Given the description of an element on the screen output the (x, y) to click on. 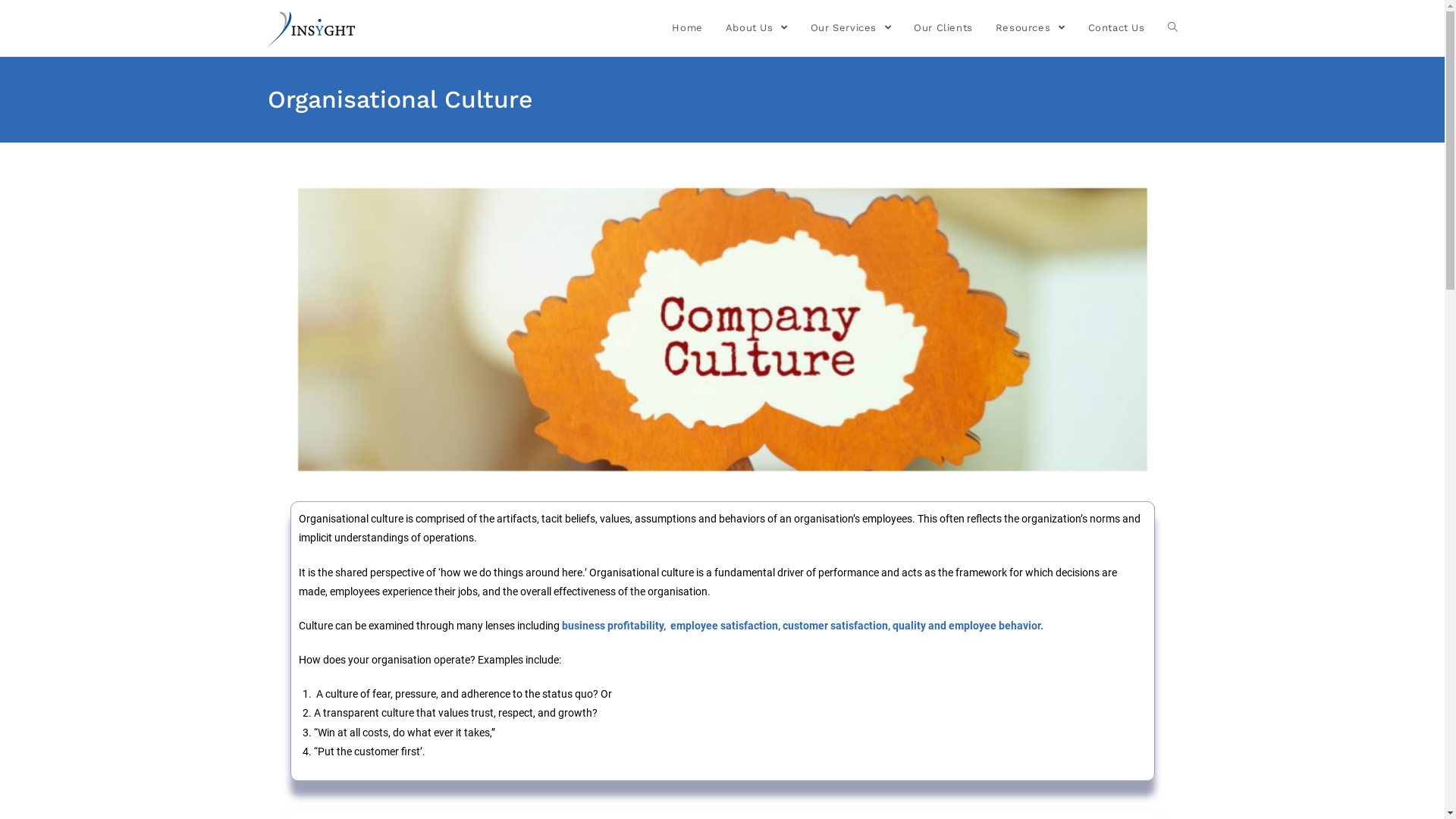
shutterstock_1778370401 resized company culture Element type: hover (721, 329)
Resources Element type: text (1030, 28)
Our Services Element type: text (850, 28)
About Us Element type: text (756, 28)
Contact Us Element type: text (1116, 28)
Home Element type: text (686, 28)
Our Clients Element type: text (943, 28)
